Given the description of an element on the screen output the (x, y) to click on. 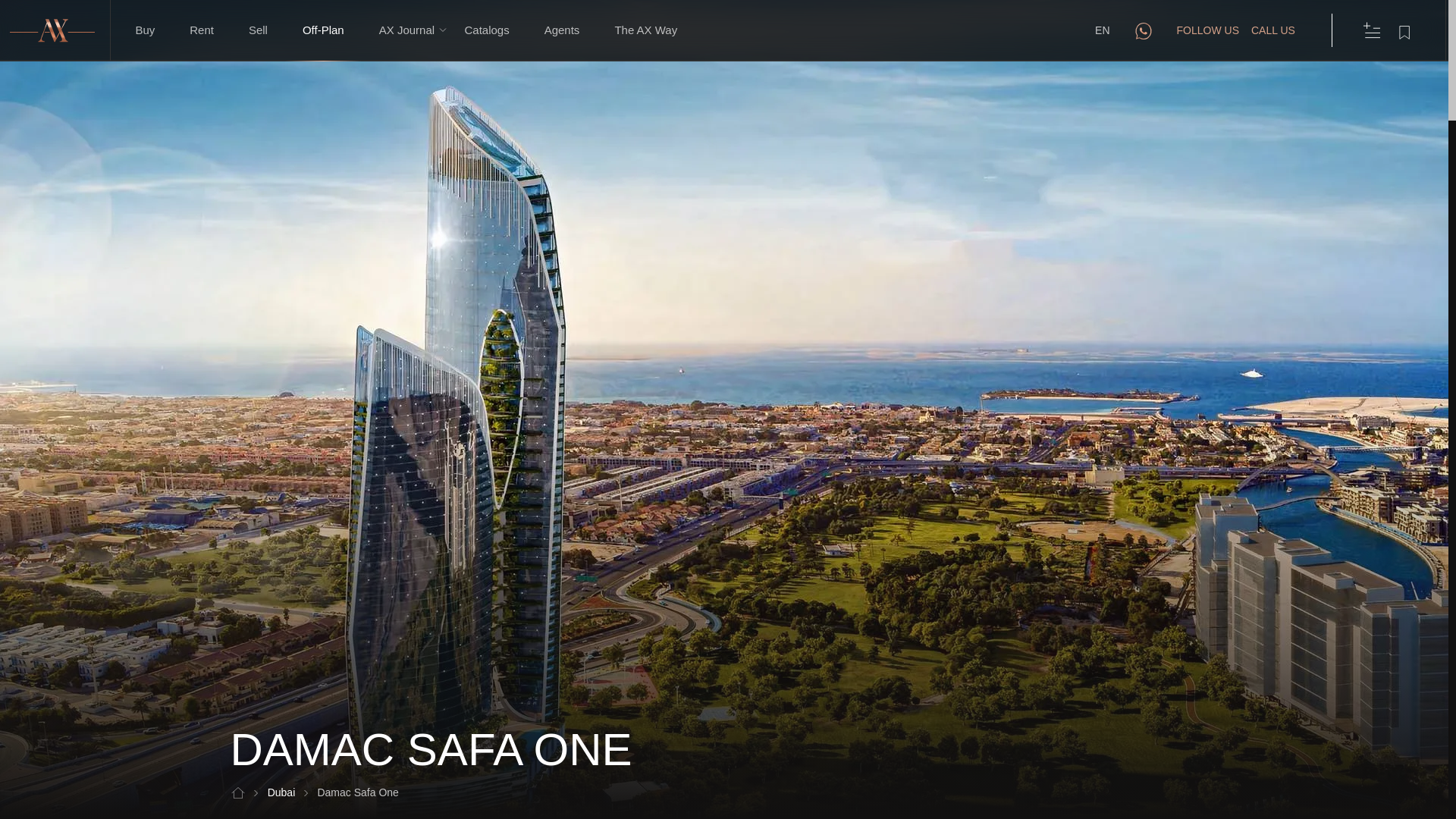
Agents (727, 792)
CALL US (561, 30)
The AX Way (1272, 30)
Off-Plan (645, 30)
Dubai (323, 30)
Buy (292, 792)
Catalogs (144, 30)
Rent (485, 30)
